Given the description of an element on the screen output the (x, y) to click on. 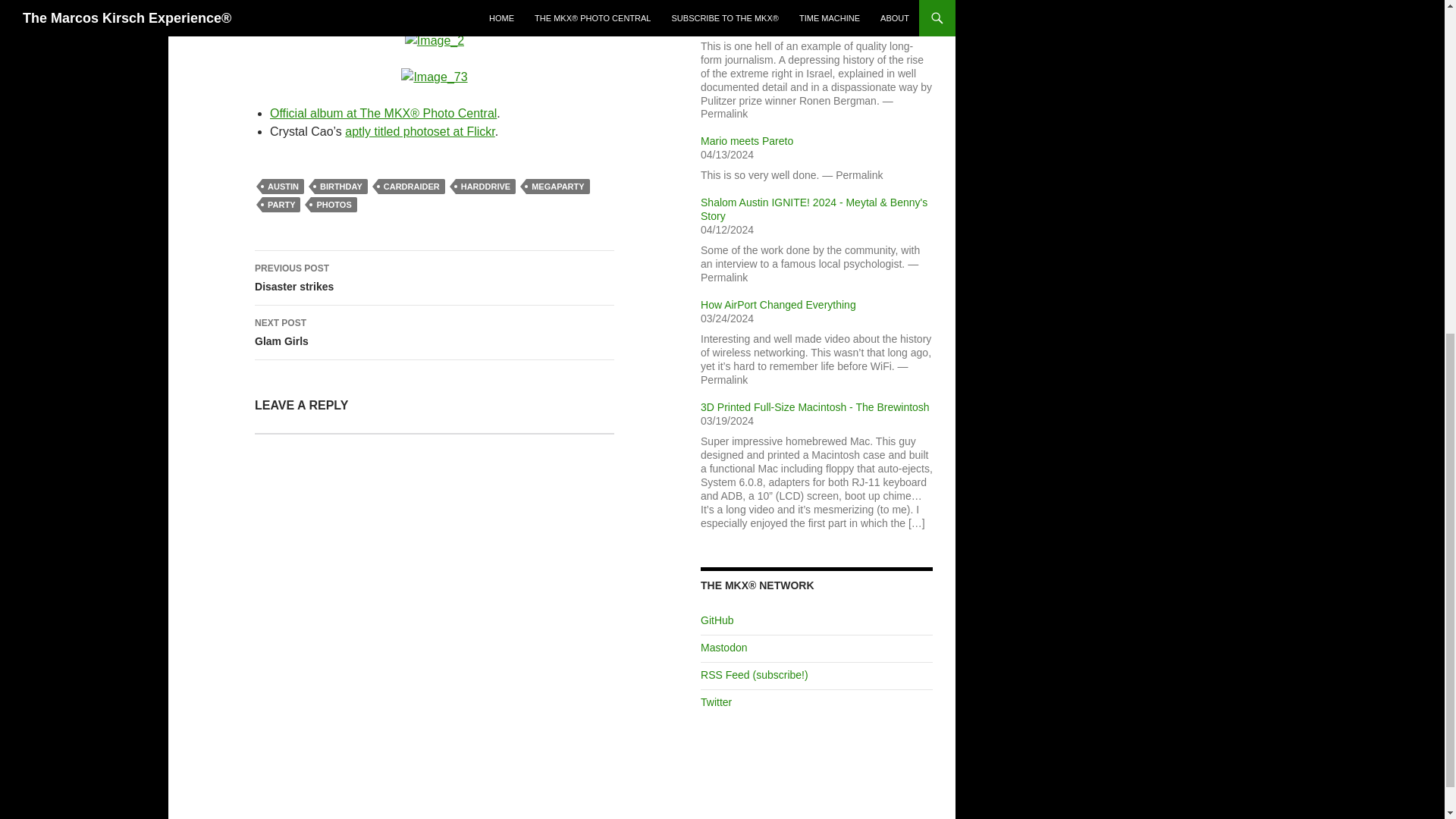
CARDRAIDER (434, 332)
BIRTHDAY (434, 277)
Comment Form (411, 186)
PARTY (341, 186)
MEGAPARTY (434, 596)
PHOTOS (280, 204)
aptly titled photoset at Flickr (557, 186)
AUSTIN (333, 204)
